Given the description of an element on the screen output the (x, y) to click on. 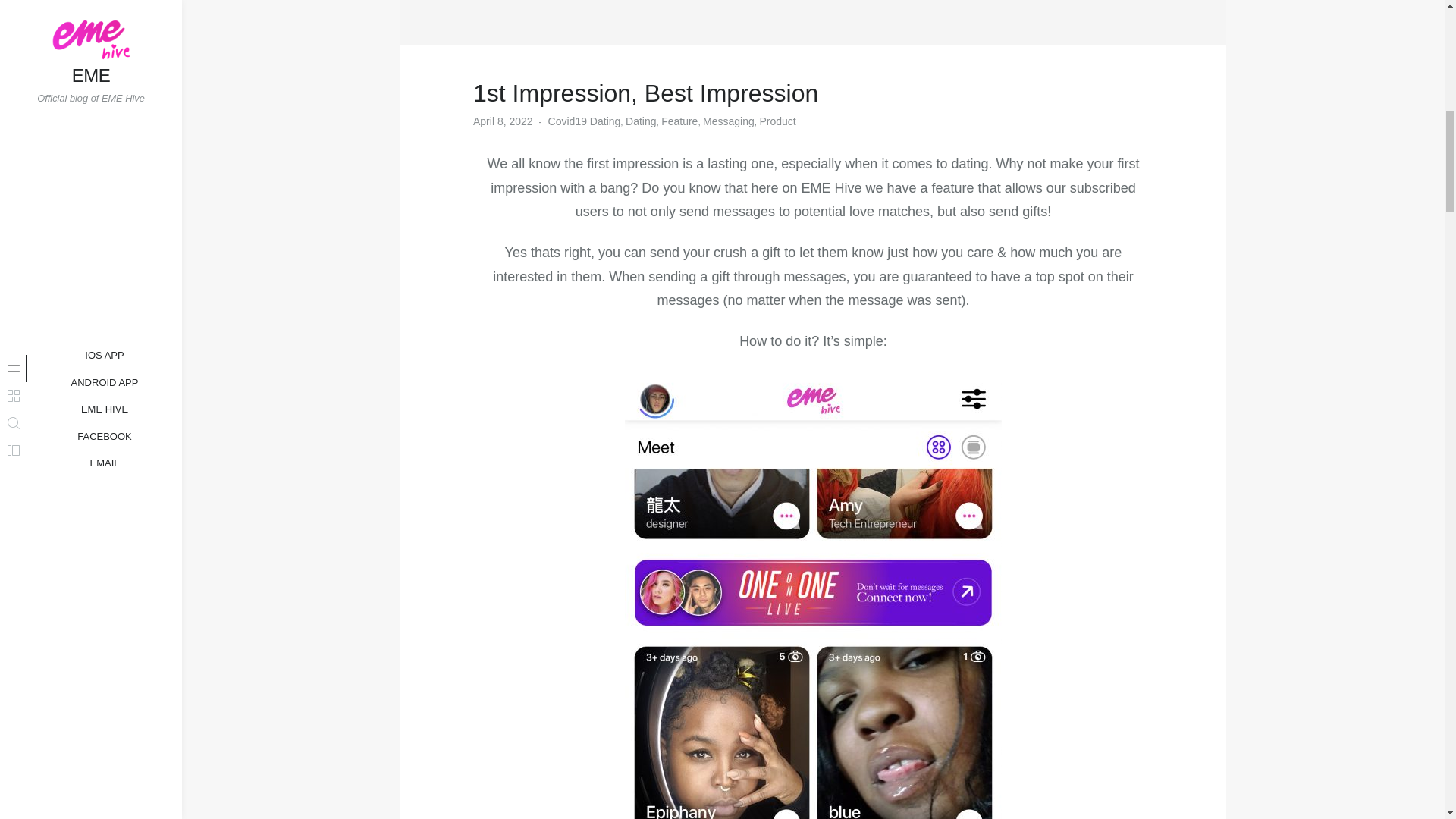
Messaging (728, 121)
Dating (641, 121)
Product (776, 121)
Feature (679, 121)
Covid19 Dating (584, 121)
